Given the description of an element on the screen output the (x, y) to click on. 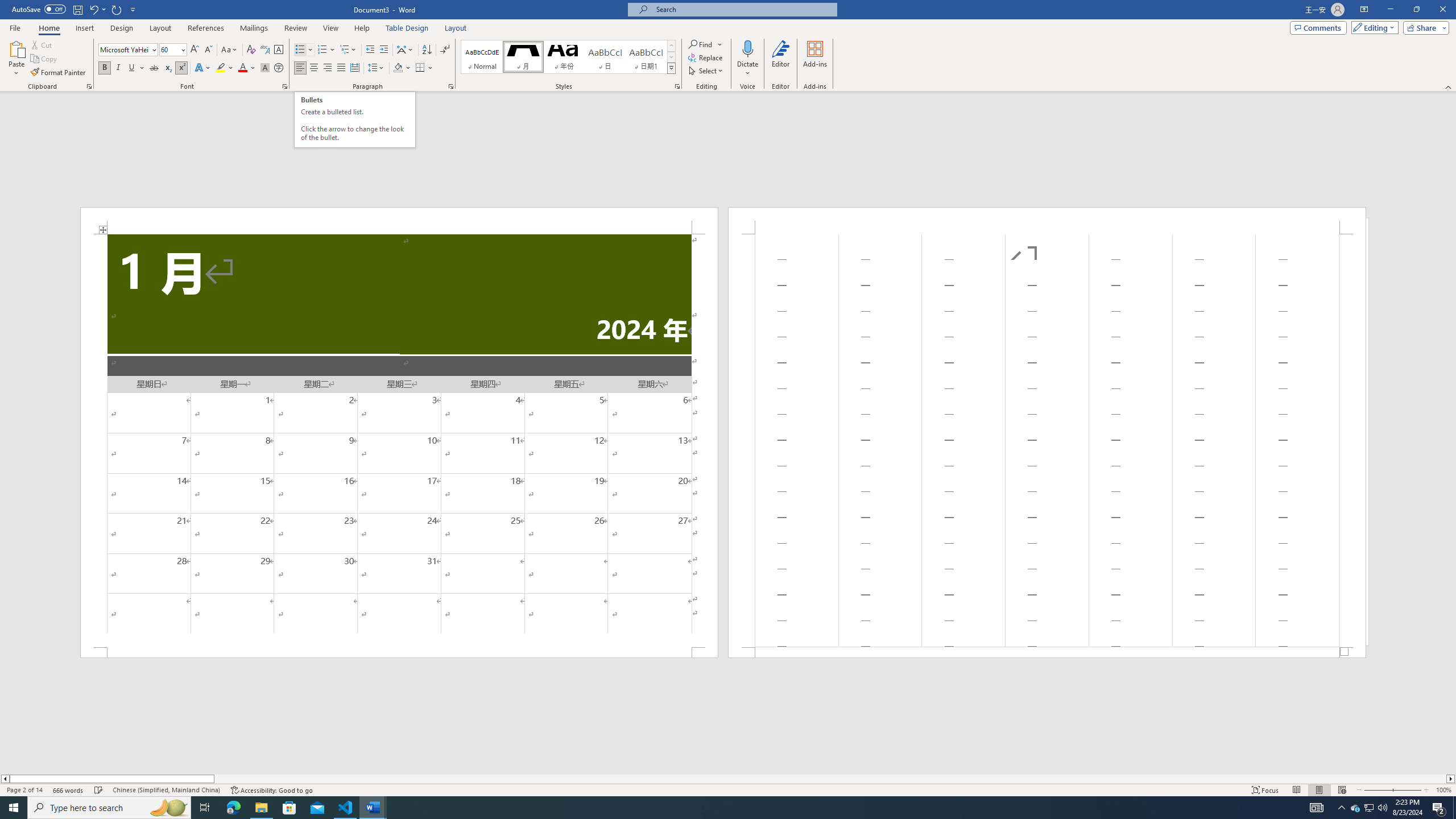
Increase Indent (383, 49)
Web Layout (1342, 790)
Restore Down (1416, 9)
Text Effects and Typography (202, 67)
Sort... (426, 49)
Table Design (407, 28)
Bold (104, 67)
Underline (136, 67)
Class: NetUIImage (671, 68)
Bullets (304, 49)
Text Highlight Color Yellow (220, 67)
Bullets (300, 49)
